Given the description of an element on the screen output the (x, y) to click on. 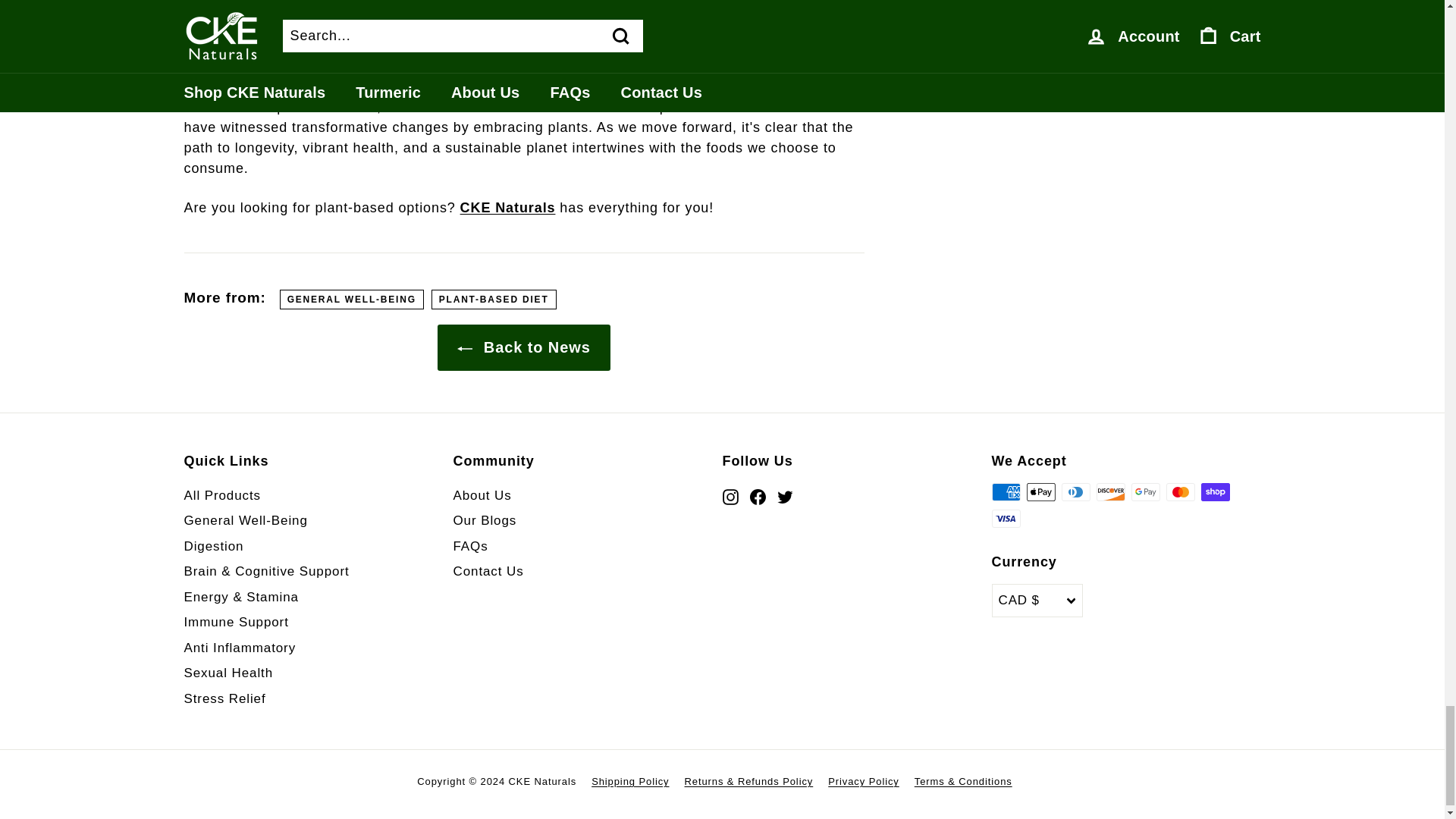
Google Pay (1145, 492)
Visa (1005, 518)
Mastercard (1180, 492)
Shop Pay (1215, 492)
Apple Pay (1040, 492)
Diners Club (1075, 492)
American Express (1005, 492)
Discover (1110, 492)
